Given the description of an element on the screen output the (x, y) to click on. 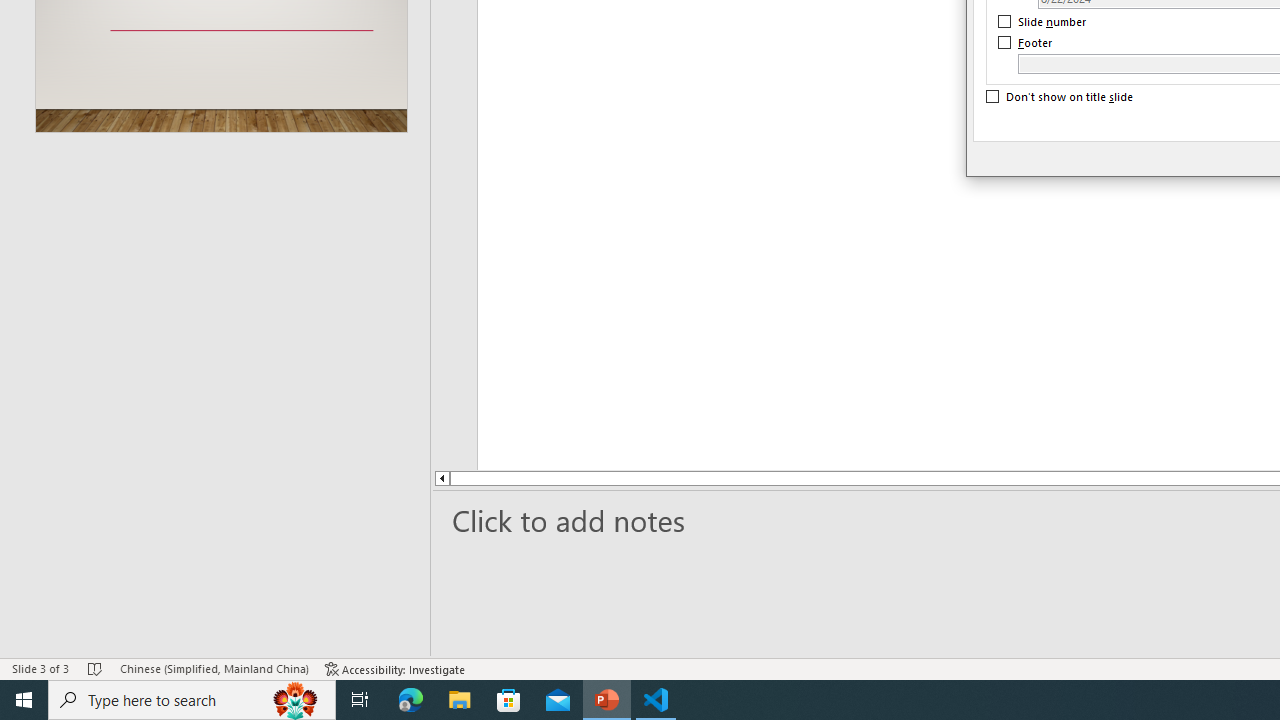
Don't show on title slide (1060, 97)
Footer (1025, 43)
Slide number (1043, 21)
